Given the description of an element on the screen output the (x, y) to click on. 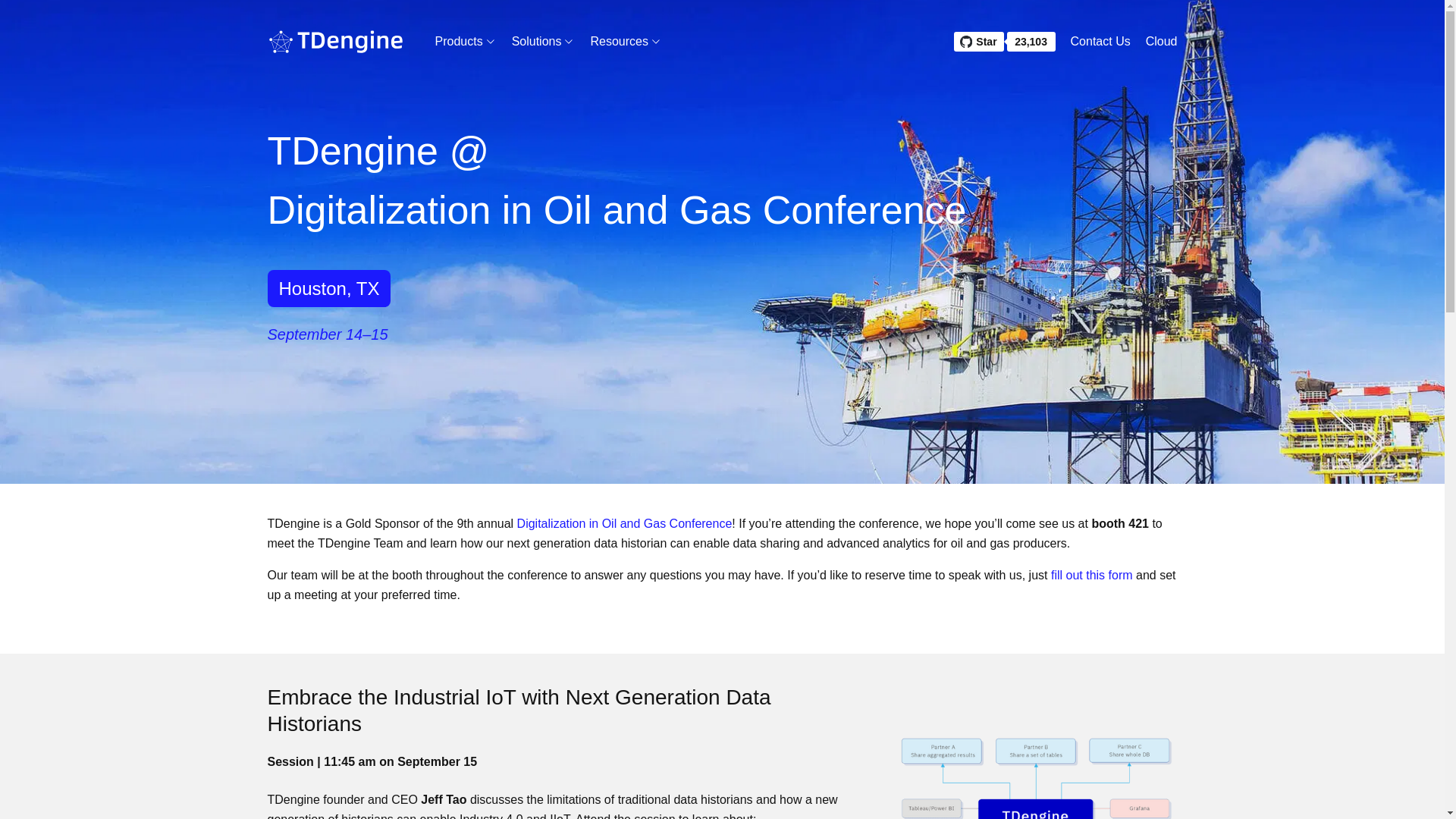
Products (460, 41)
Solutions (542, 41)
